Given the description of an element on the screen output the (x, y) to click on. 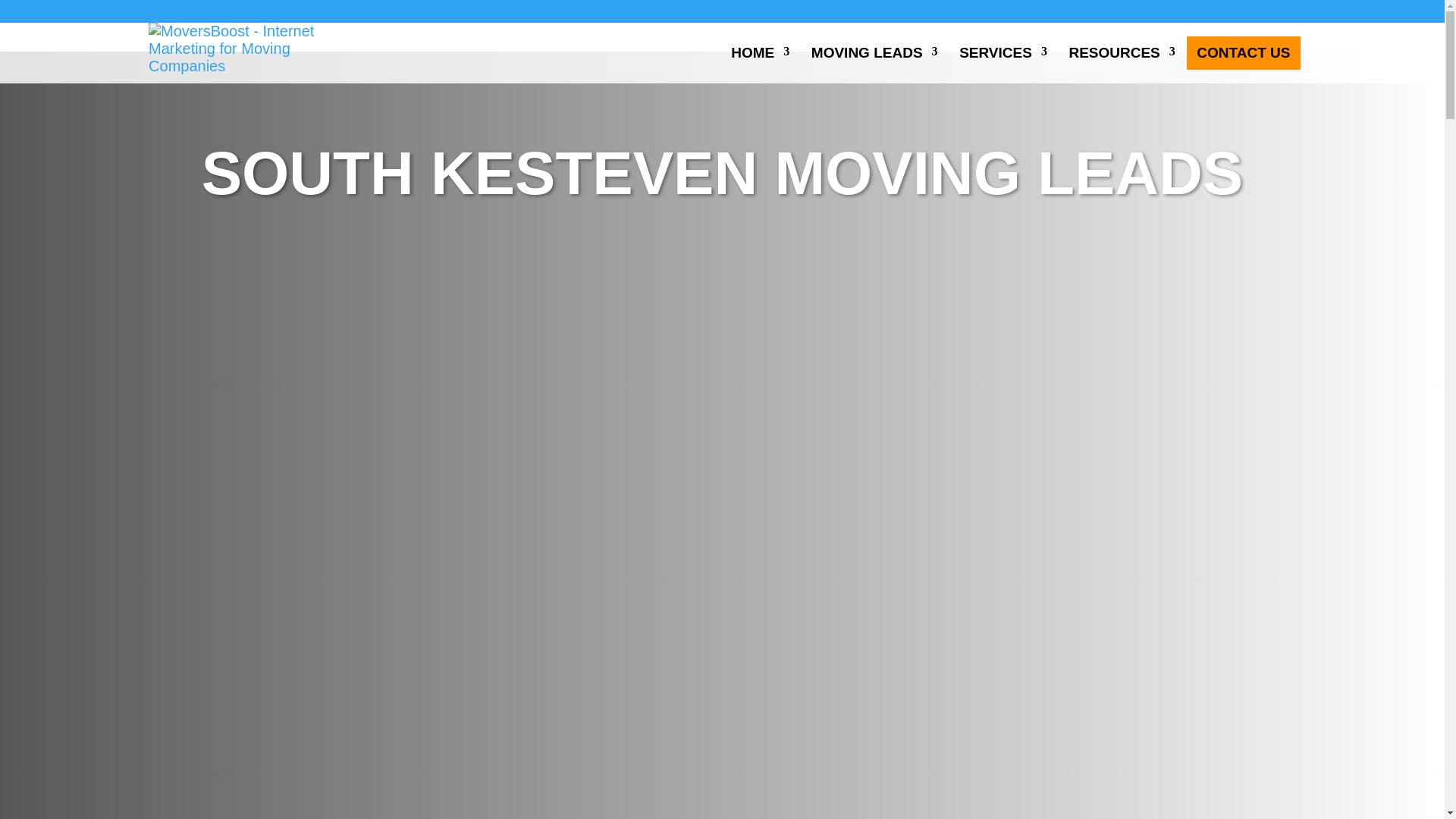
HOME (754, 52)
SERVICES (997, 52)
MOVING LEADS (869, 52)
RESOURCES (1116, 52)
